Given the description of an element on the screen output the (x, y) to click on. 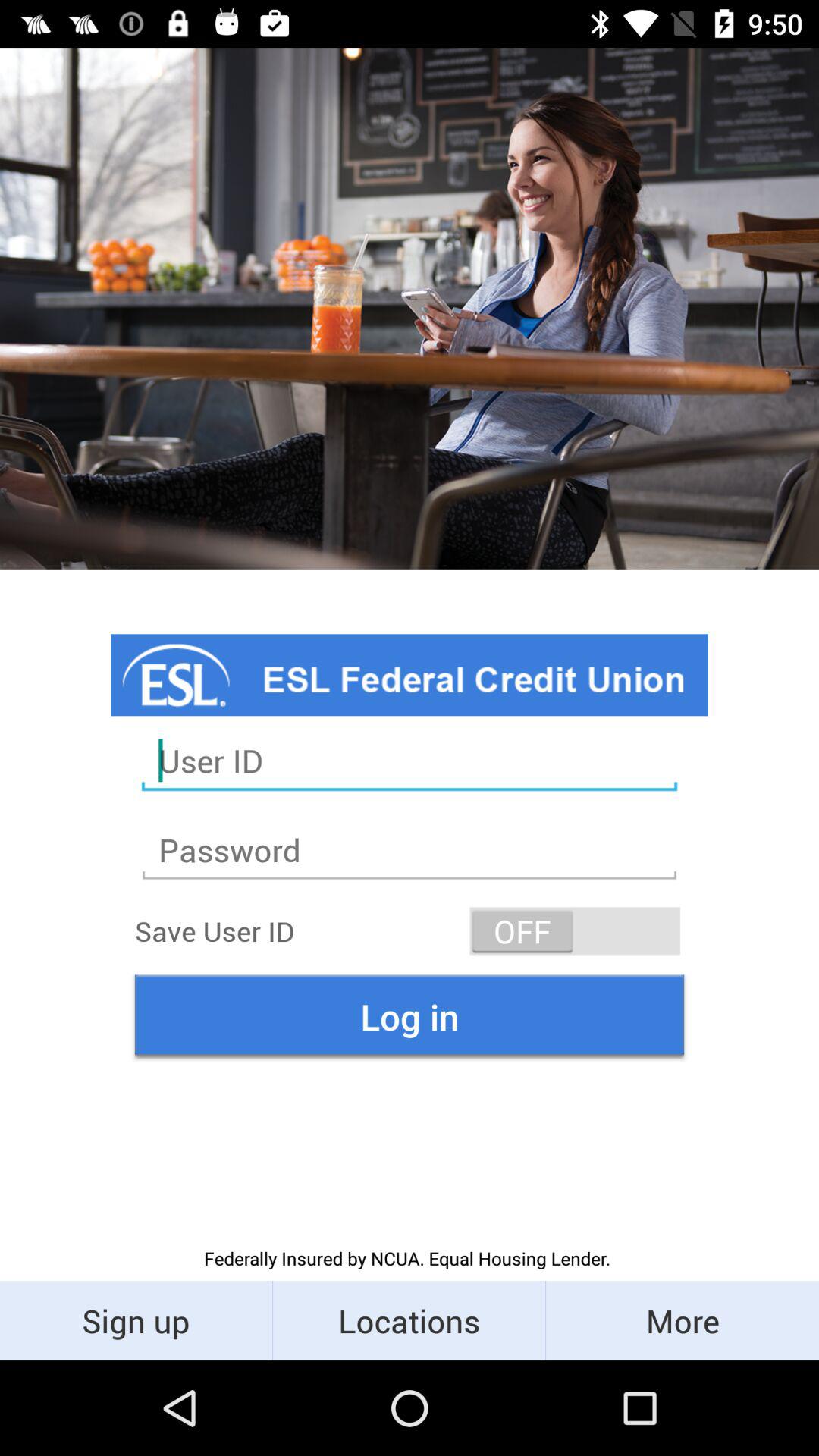
turn on locations item (409, 1320)
